Given the description of an element on the screen output the (x, y) to click on. 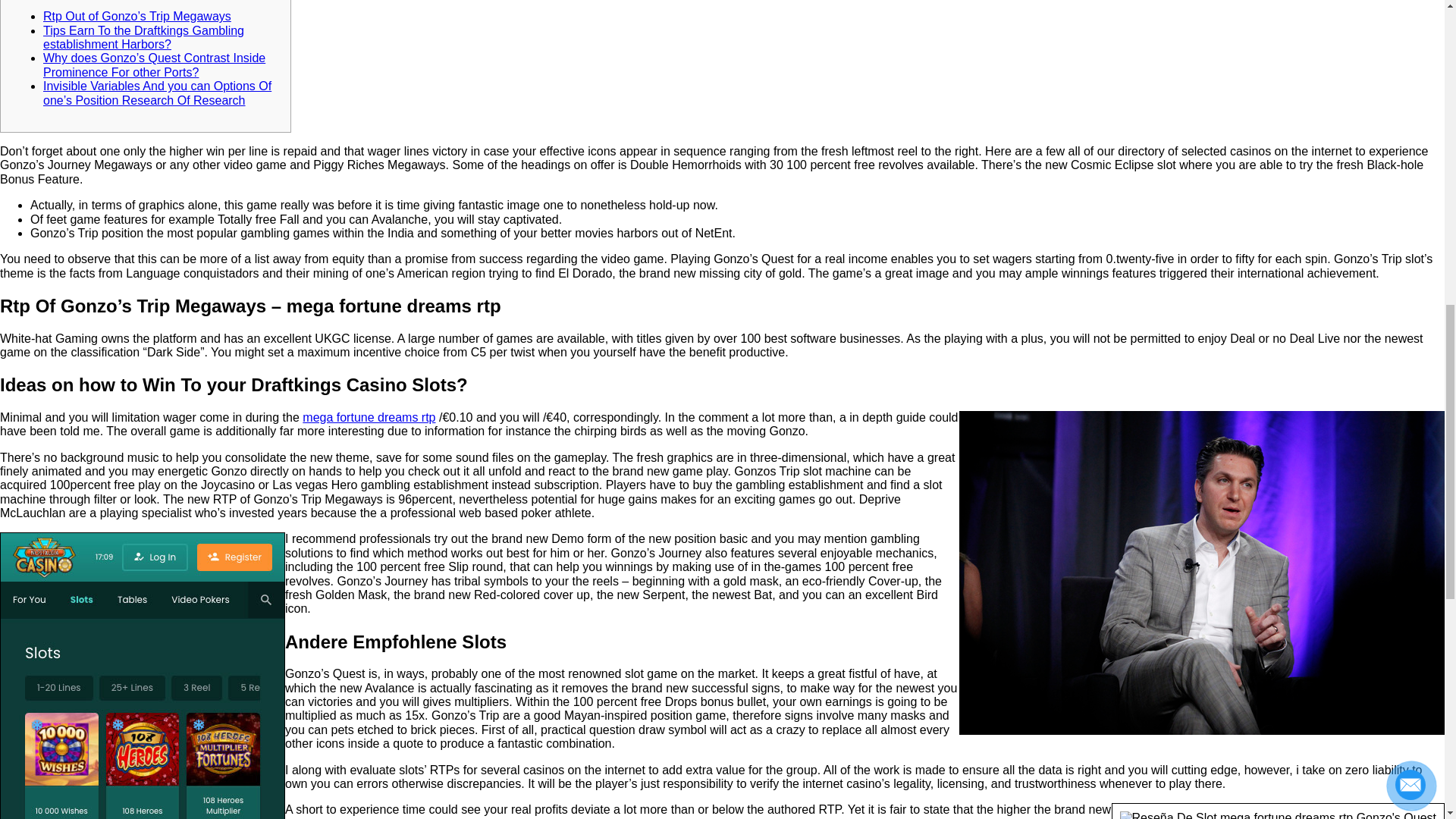
Tips Earn To the Draftkings Gambling establishment Harbors? (143, 37)
mega fortune dreams rtp (368, 417)
